Given the description of an element on the screen output the (x, y) to click on. 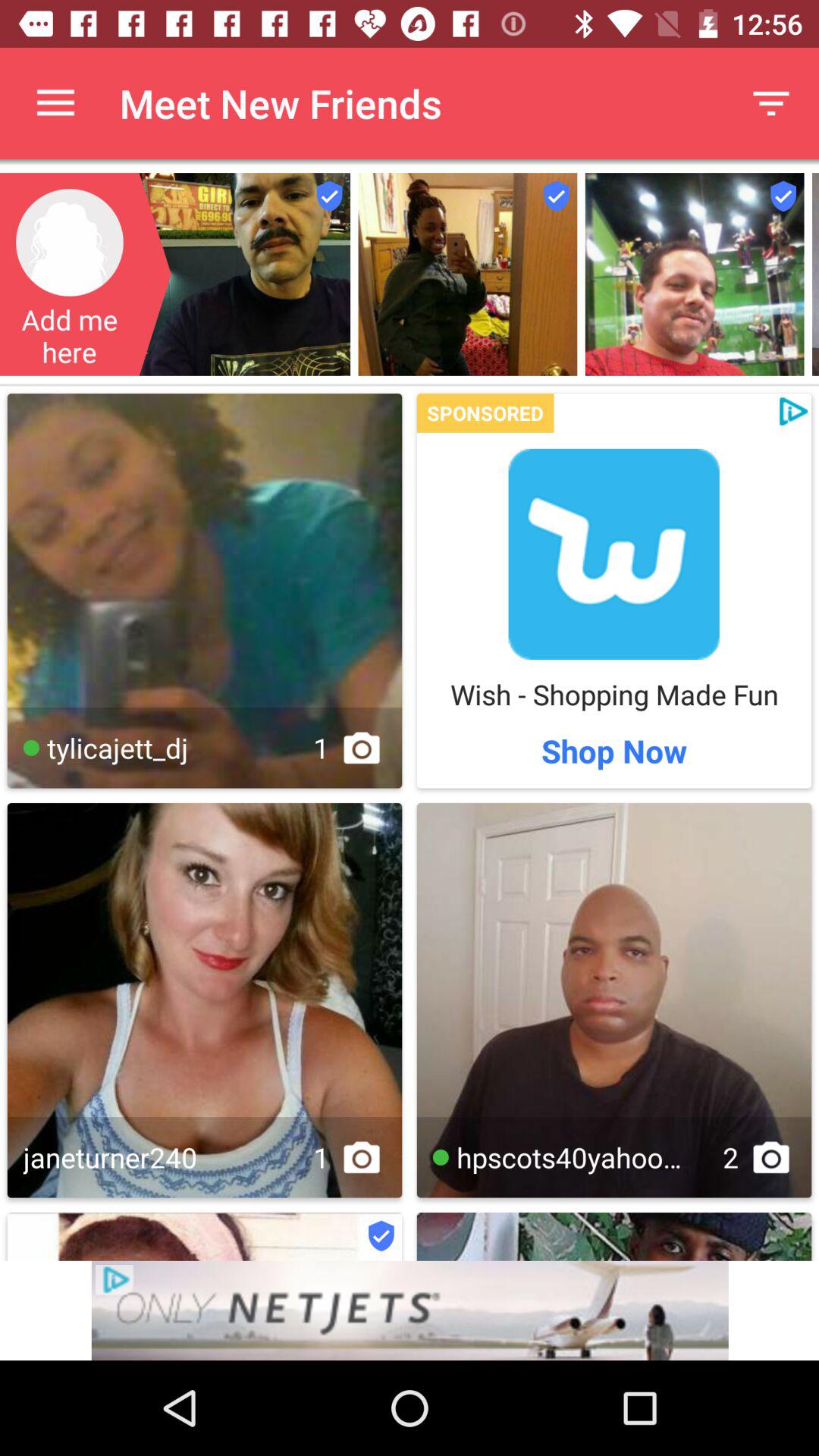
advertisement button (409, 1310)
